Given the description of an element on the screen output the (x, y) to click on. 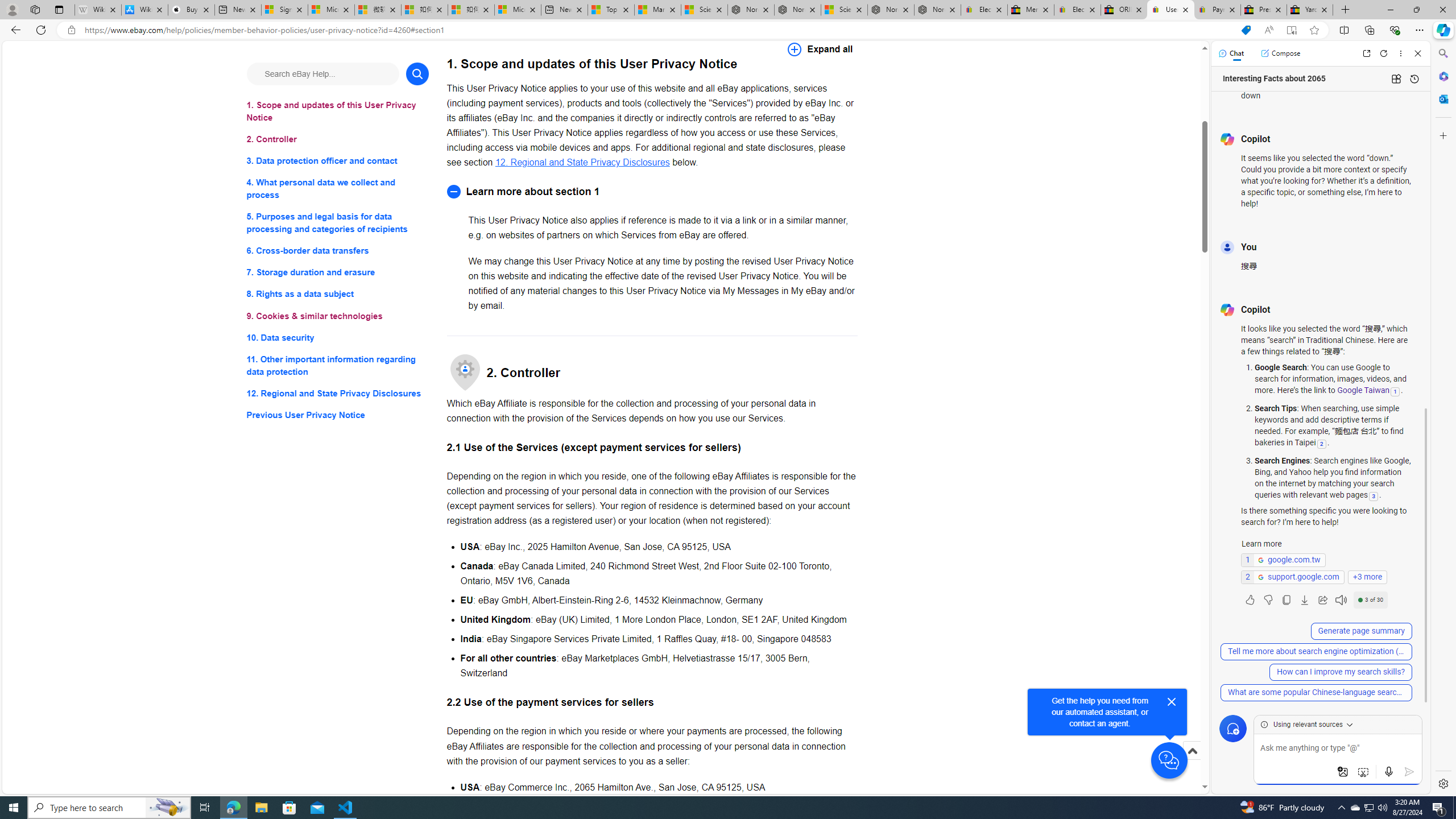
Search eBay Help... (322, 73)
7. Storage duration and erasure (337, 272)
3. Data protection officer and contact (337, 160)
11. Other important information regarding data protection (337, 365)
10. Data security (337, 336)
Expand all (820, 49)
12. Regional and State Privacy Disclosures (337, 392)
Buy iPad - Apple (191, 9)
